Given the description of an element on the screen output the (x, y) to click on. 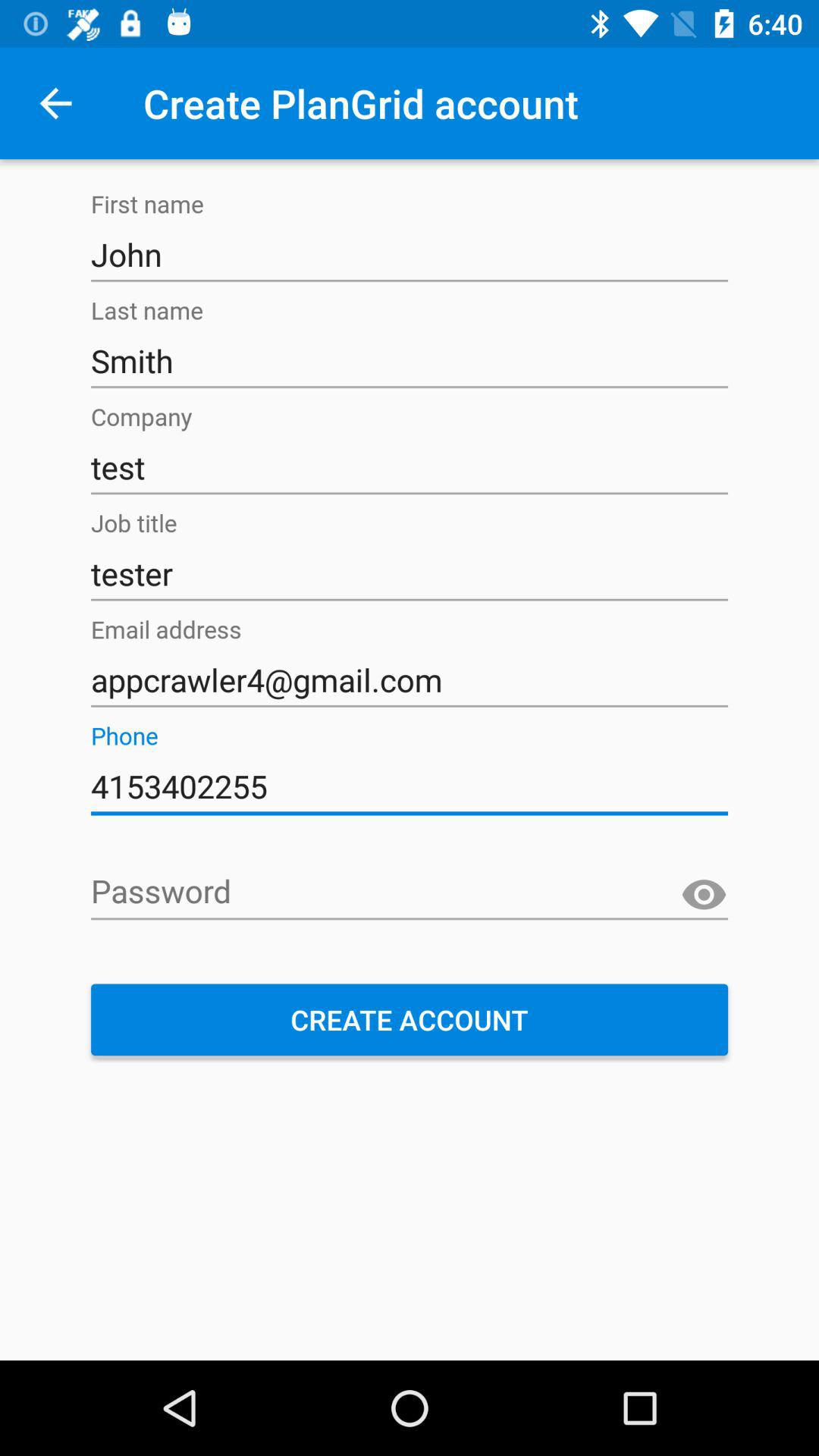
choose the icon above the tester item (409, 467)
